Given the description of an element on the screen output the (x, y) to click on. 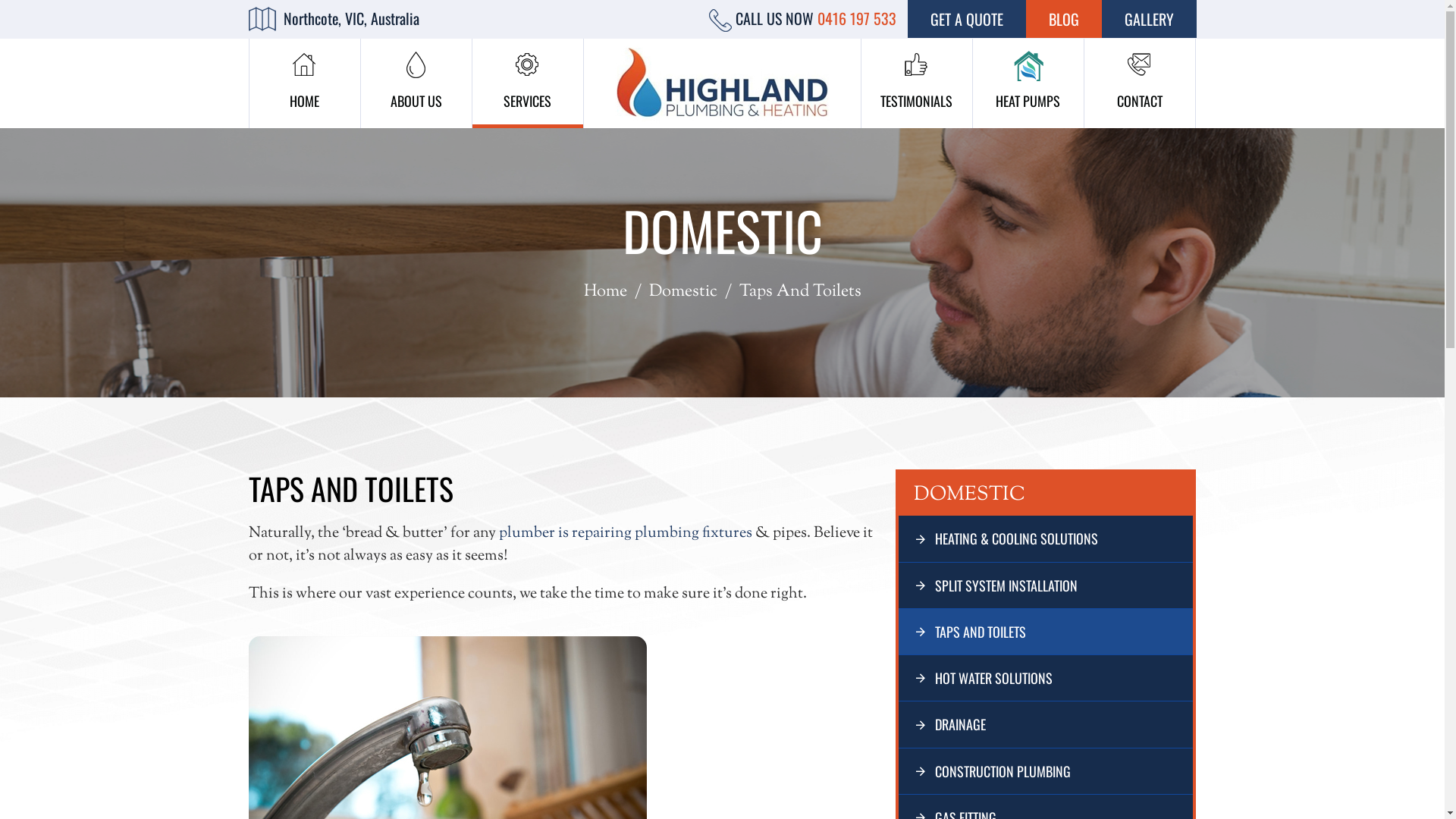
HEATING & COOLING SOLUTIONS Element type: text (1045, 538)
GALLERY Element type: text (1148, 18)
HOME Element type: text (303, 83)
TESTIMONIALS Element type: text (916, 83)
DRAINAGE Element type: text (1045, 723)
Domestic Element type: text (683, 292)
Home Element type: text (605, 292)
CONSTRUCTION PLUMBING Element type: text (1045, 770)
GET A QUOTE Element type: text (965, 18)
TAPS AND TOILETS Element type: text (1045, 631)
SPLIT SYSTEM INSTALLATION Element type: text (1045, 585)
SERVICES Element type: text (526, 83)
BLOG Element type: text (1063, 18)
HOT WATER SOLUTIONS Element type: text (1045, 677)
plumber is repairing plumbing fixtures Element type: text (625, 533)
CONTACT Element type: text (1139, 83)
0416 197 533 Element type: text (856, 17)
ABOUT US Element type: text (415, 83)
HEAT PUMPS Element type: text (1027, 83)
